Given the description of an element on the screen output the (x, y) to click on. 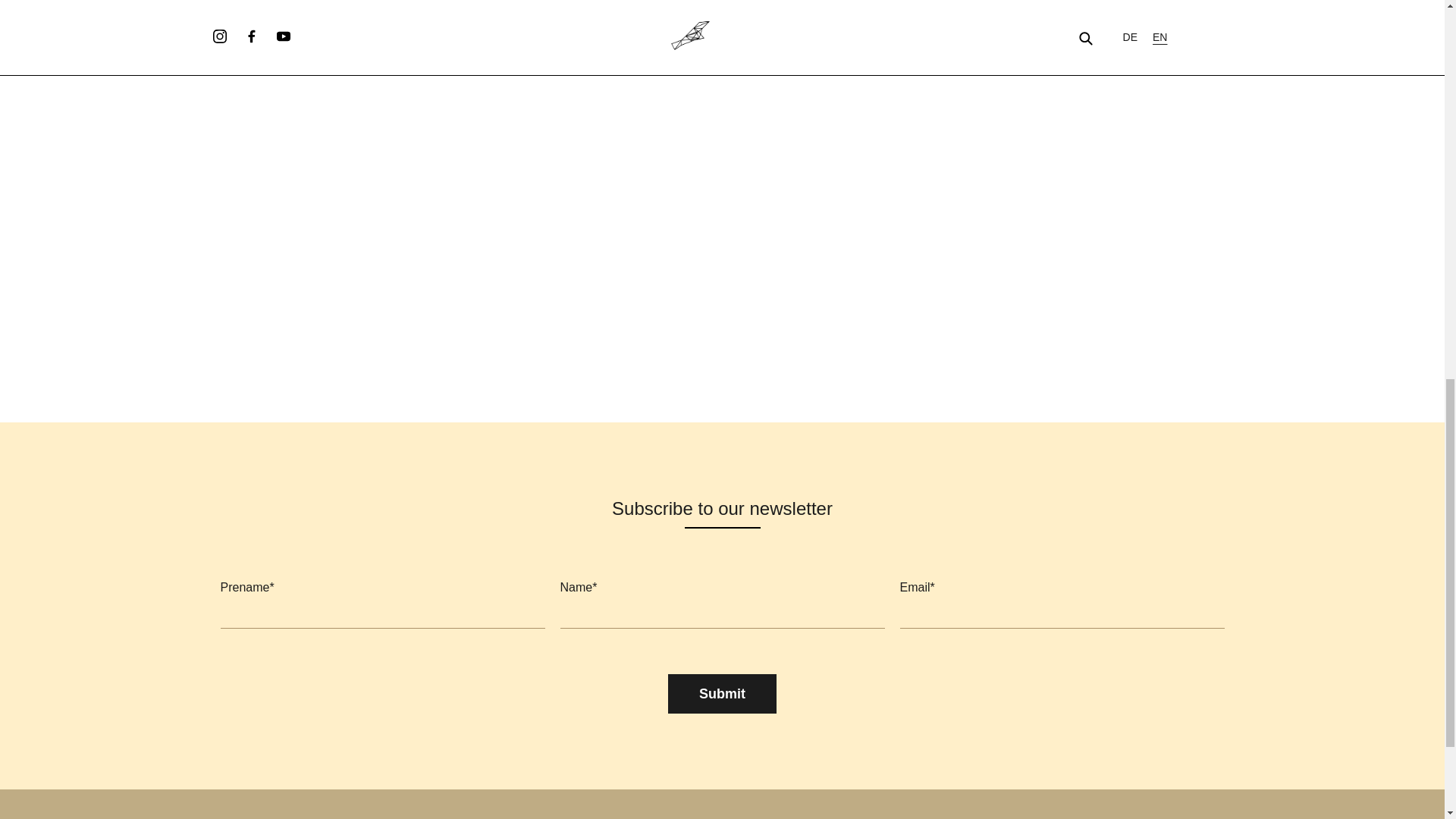
Submit (722, 694)
Submit (722, 694)
